Given the description of an element on the screen output the (x, y) to click on. 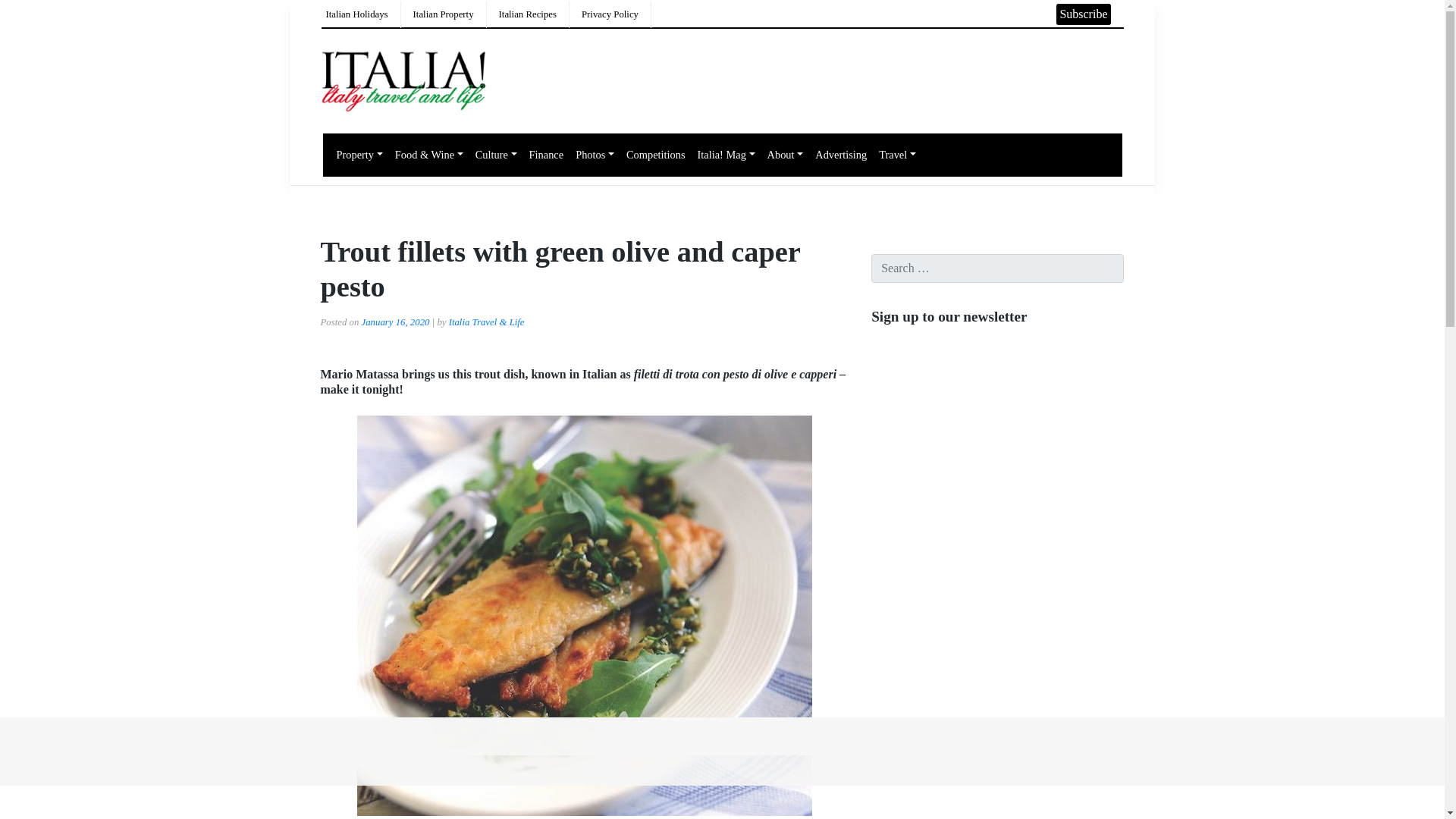
Photos (594, 154)
Privacy Policy (609, 14)
Finance (546, 154)
Culture (495, 154)
Subscribe (1083, 14)
Italian Property (443, 14)
Property (359, 154)
Privacy Policy (609, 14)
Advertising (840, 154)
Italian Holidays (357, 14)
